Given the description of an element on the screen output the (x, y) to click on. 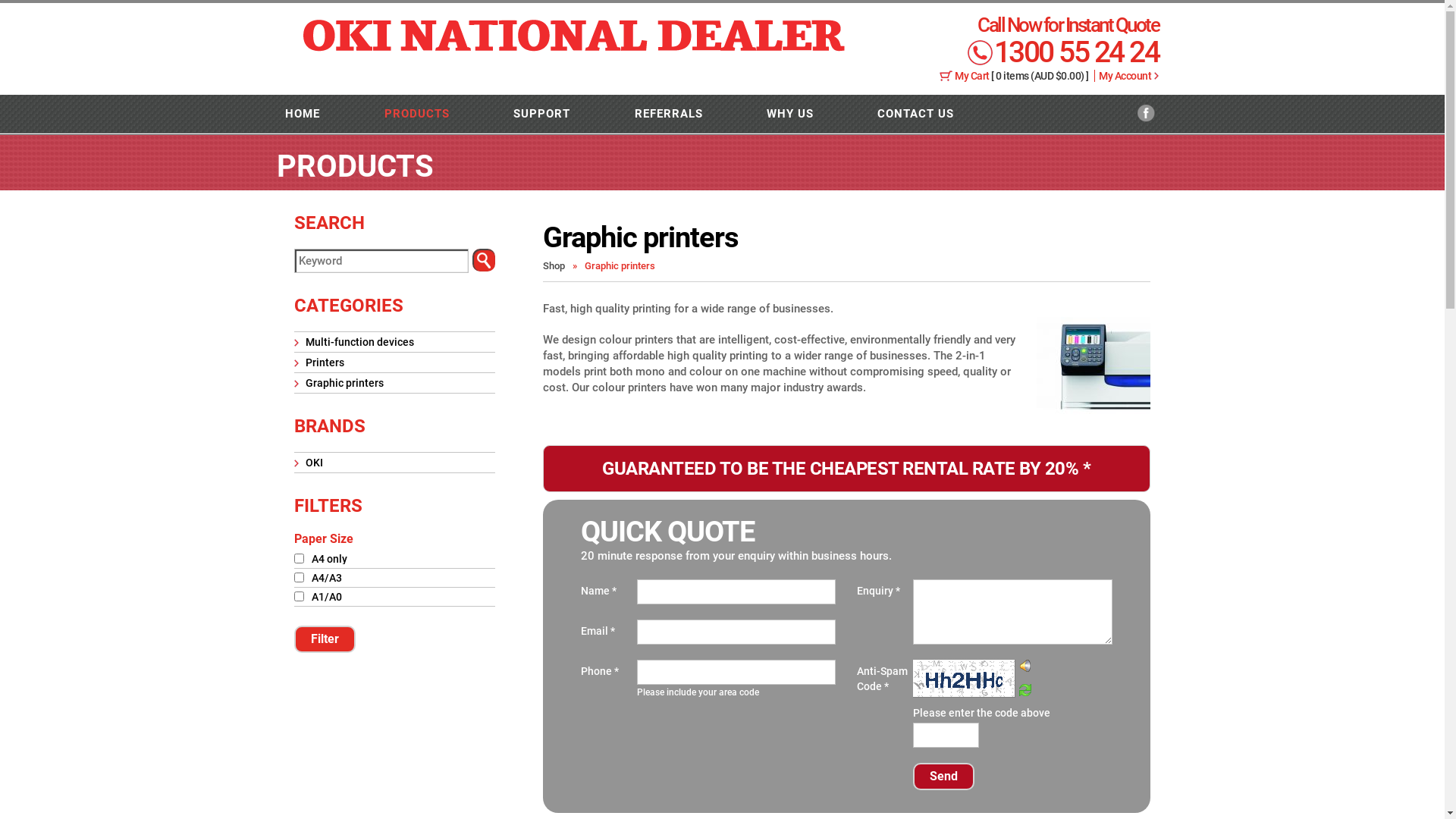
Printers Element type: text (324, 362)
My Cart Element type: text (972, 75)
Go Element type: text (483, 259)
Play this using your speakers Element type: hover (1025, 667)
CONTACT US Element type: text (915, 113)
Filter Element type: text (324, 638)
WHY US Element type: text (789, 113)
Apply filters Element type: hover (324, 638)
OKI Element type: text (314, 462)
Multi-function devices Element type: text (359, 341)
Shop Element type: text (553, 265)
HOME Element type: text (302, 113)
REFERRALS Element type: text (667, 113)
Send Element type: text (943, 776)
Change Code Element type: hover (1025, 692)
SUPPORT Element type: text (541, 113)
PRODUCTS Element type: text (416, 113)
Graphic printers Element type: text (344, 382)
My Account Element type: text (1122, 75)
